Given the description of an element on the screen output the (x, y) to click on. 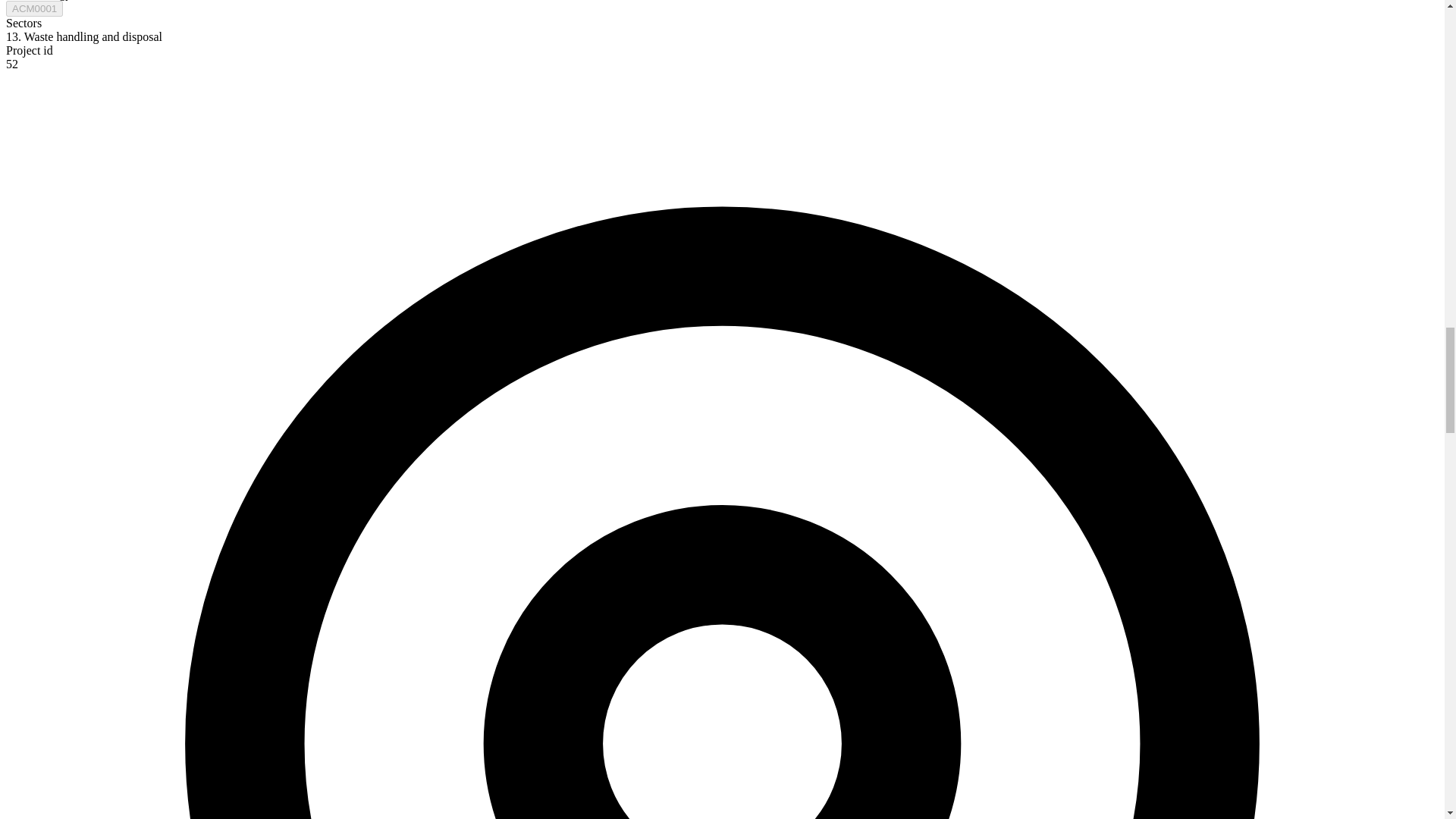
ACM0001 (33, 8)
